Given the description of an element on the screen output the (x, y) to click on. 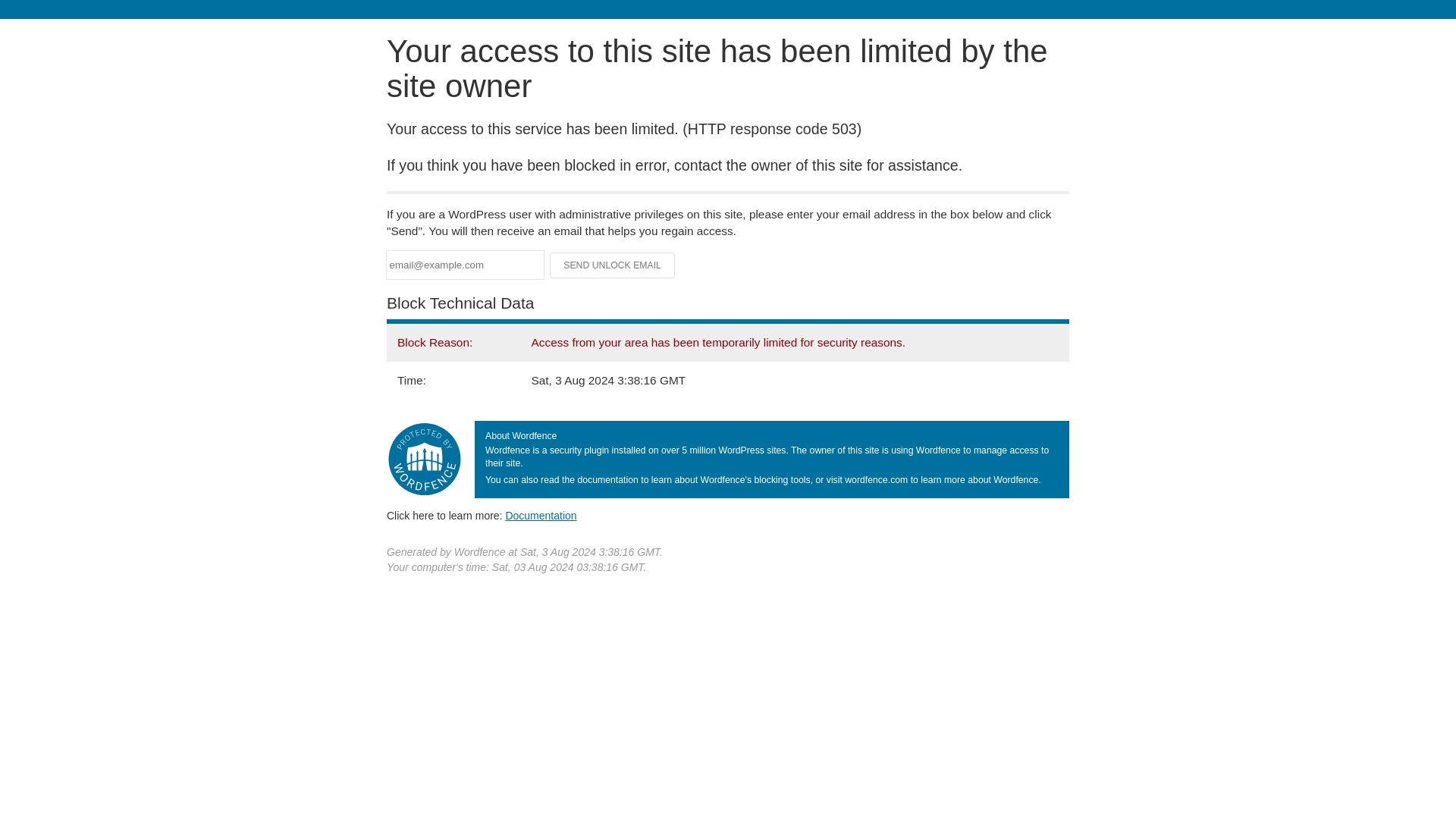
Documentation (540, 515)
Send Unlock Email (612, 265)
Send Unlock Email (612, 265)
